Given the description of an element on the screen output the (x, y) to click on. 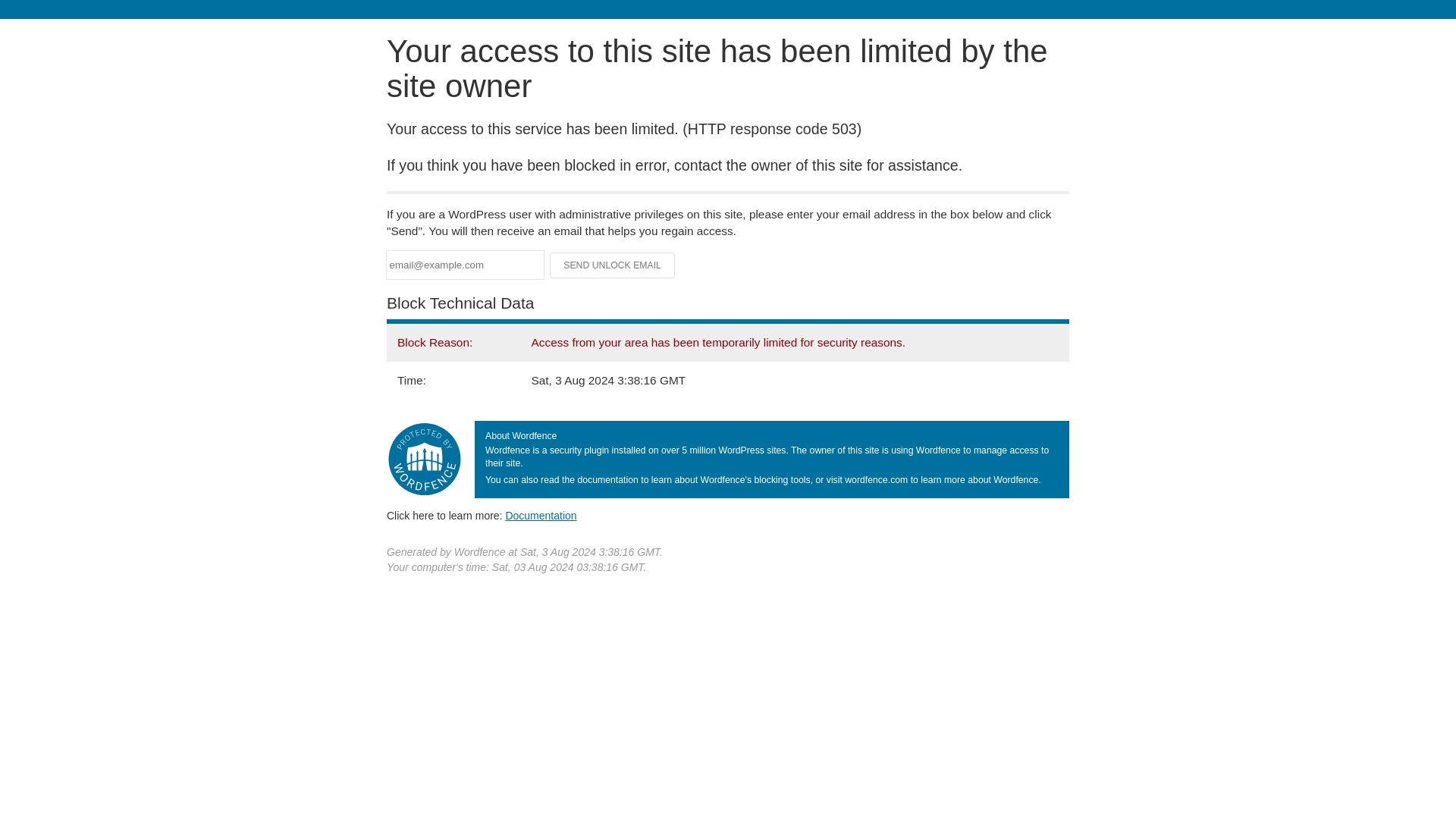
Documentation (540, 515)
Send Unlock Email (612, 265)
Send Unlock Email (612, 265)
